Given the description of an element on the screen output the (x, y) to click on. 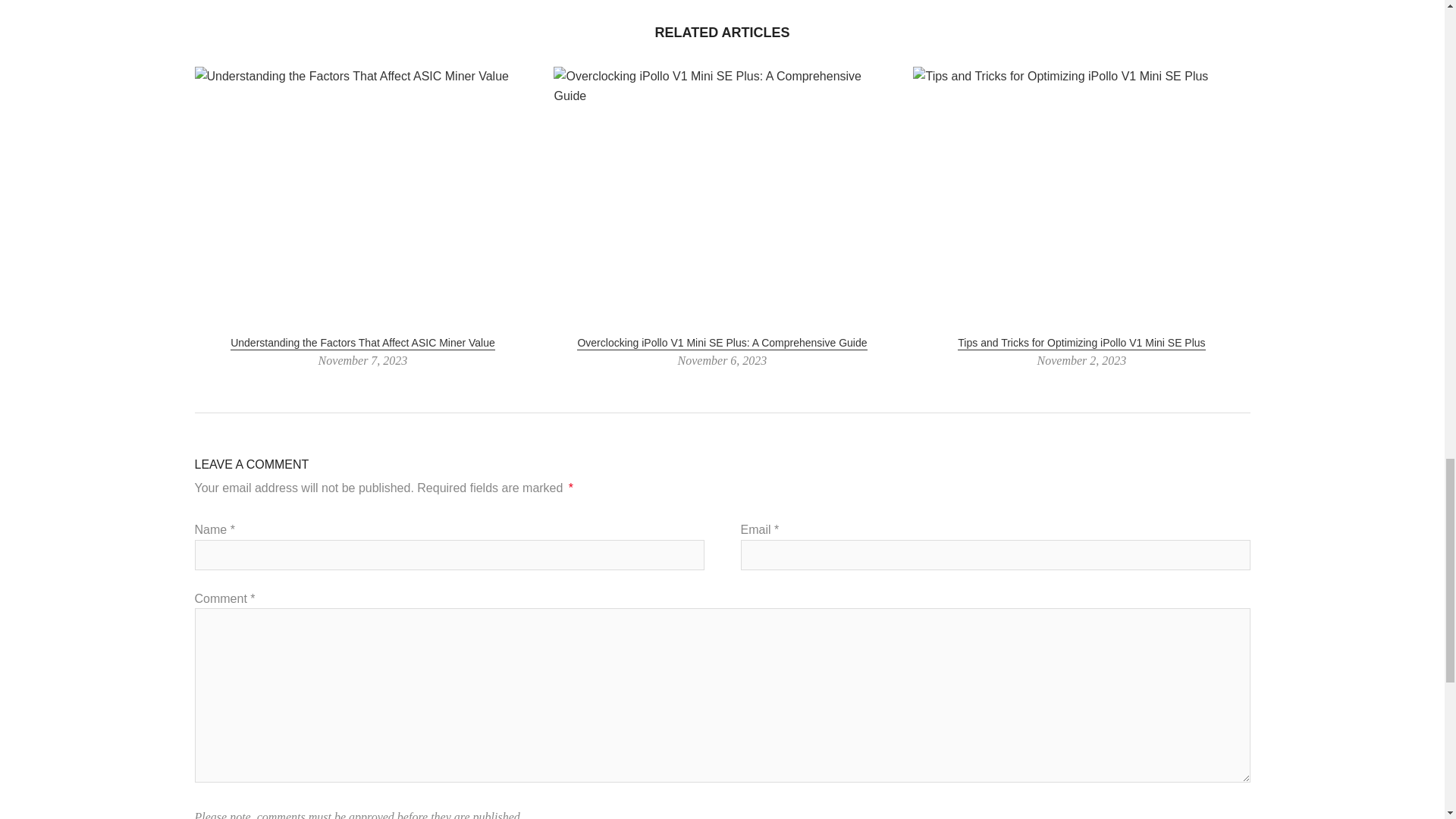
Overclocking iPollo V1 Mini SE Plus: A Comprehensive Guide (721, 343)
Understanding the Factors That Affect ASIC Miner Value (362, 343)
Tips and Tricks for Optimizing iPollo V1 Mini SE Plus (1081, 343)
